Given the description of an element on the screen output the (x, y) to click on. 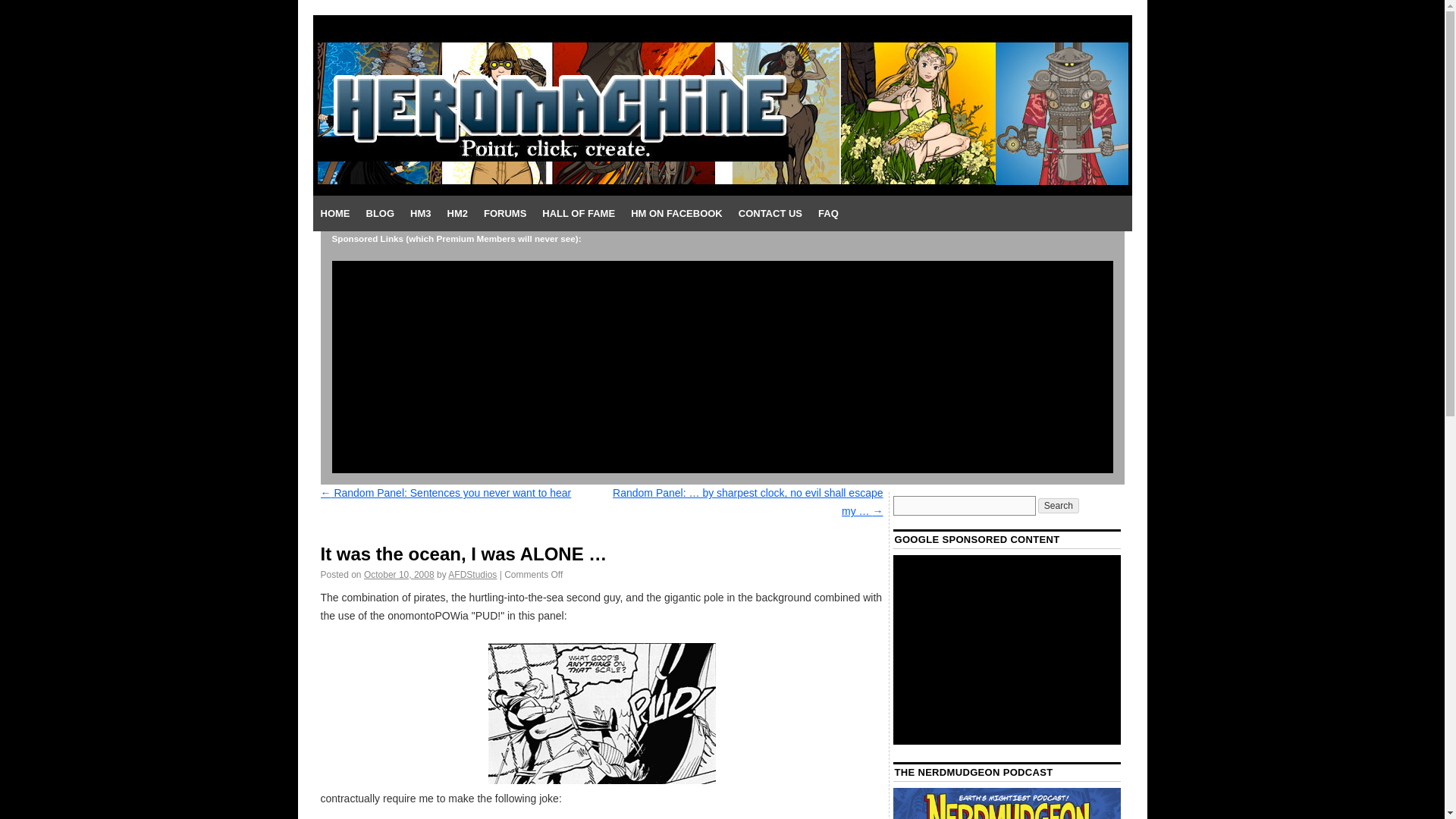
HM3 (420, 213)
HOME (334, 213)
9:00 am (398, 574)
Advertisement (1007, 649)
Search (1058, 505)
AFDStudios (472, 574)
HM2 (457, 213)
View all posts by AFDStudios (472, 574)
HALL OF FAME (578, 213)
CONTACT US (769, 213)
October 10, 2008 (398, 574)
Search (1058, 505)
FAQ (827, 213)
HM ON FACEBOOK (676, 213)
